Given the description of an element on the screen output the (x, y) to click on. 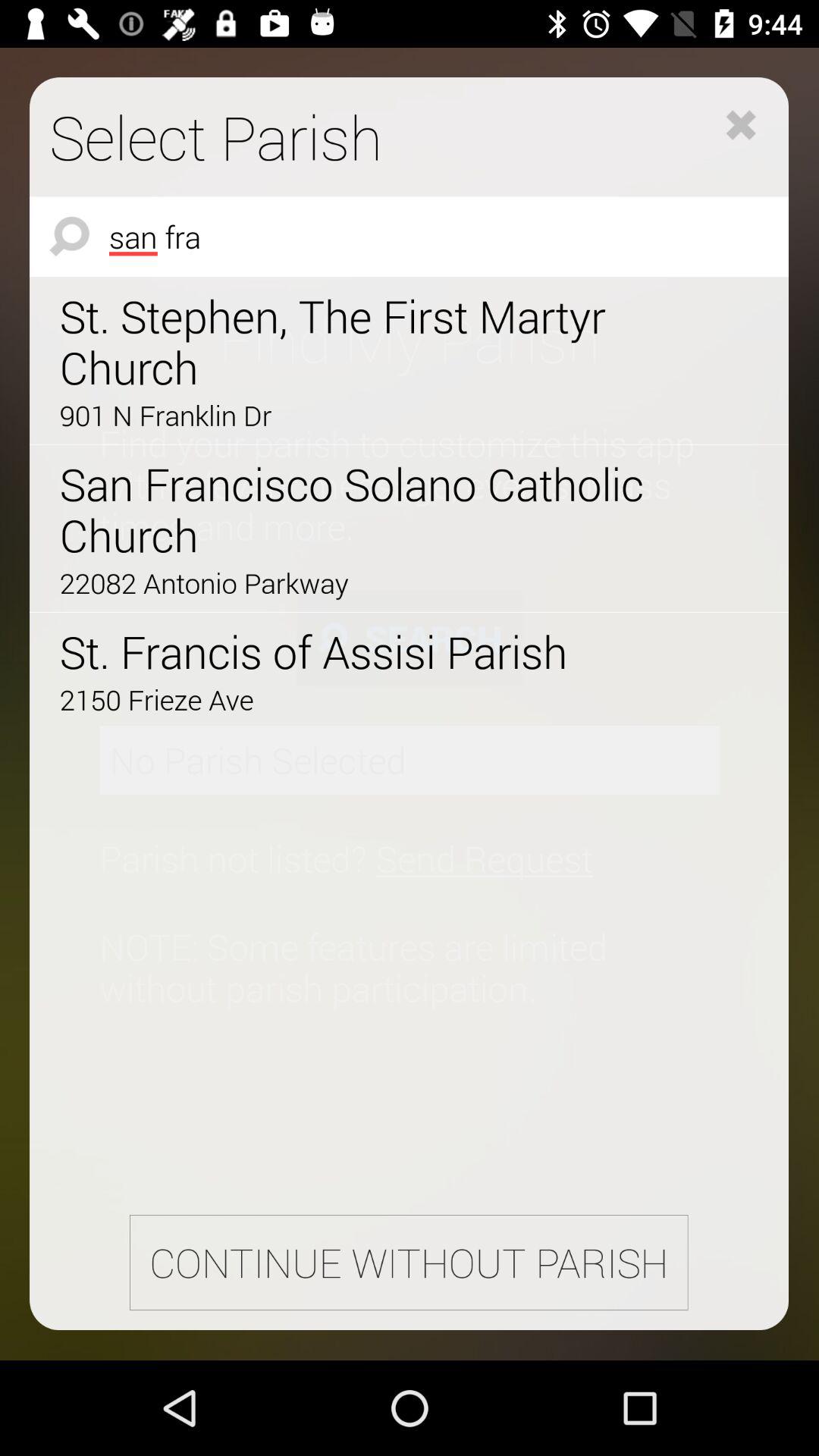
turn on the icon below select parish (408, 236)
